Given the description of an element on the screen output the (x, y) to click on. 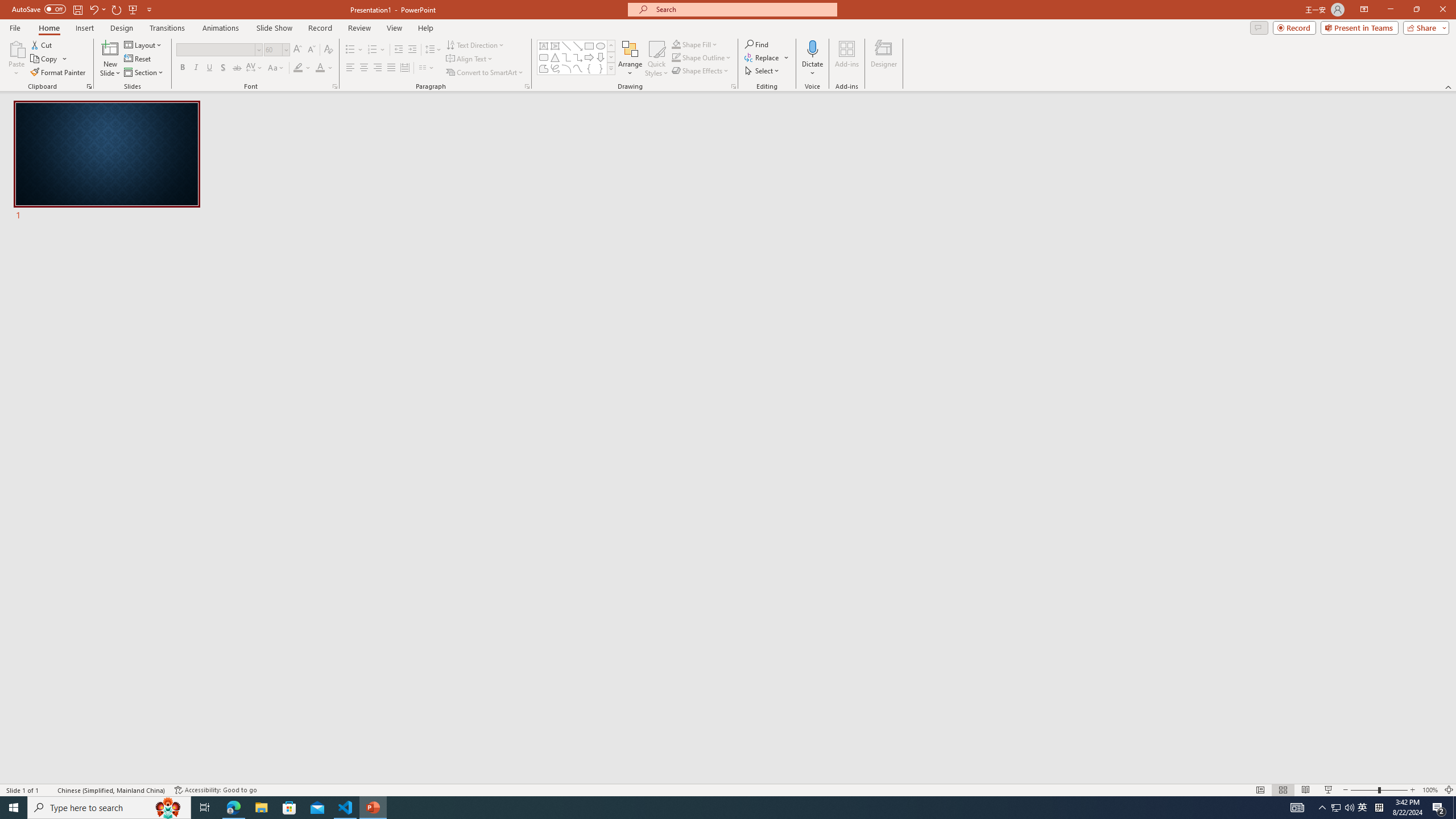
Accessibility Checker Accessibility: Good to go (216, 790)
